Given the description of an element on the screen output the (x, y) to click on. 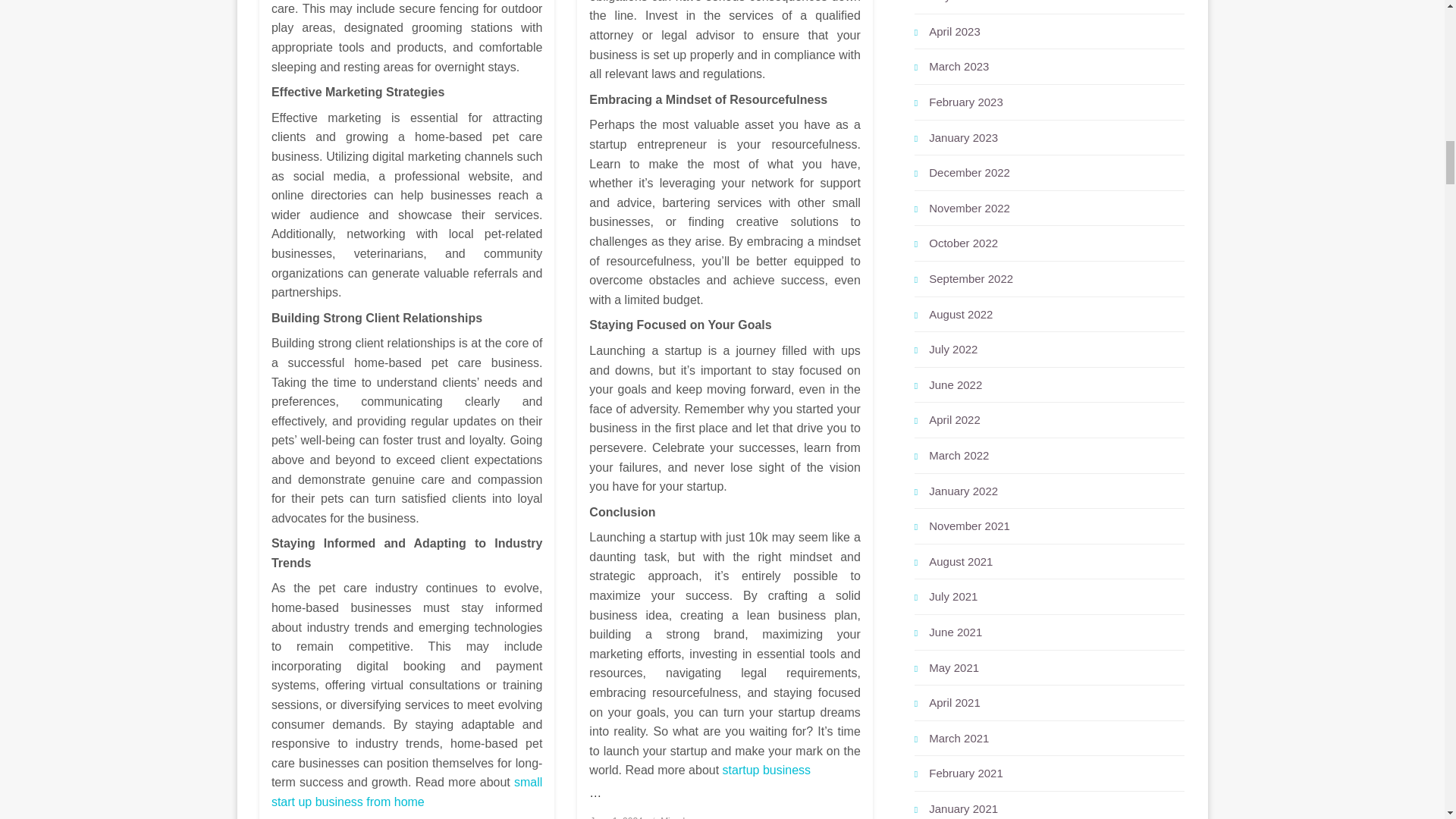
Miracle (675, 817)
startup business (766, 769)
June 1, 2024 (615, 817)
Miracle (675, 817)
small start up business from home (405, 791)
